Given the description of an element on the screen output the (x, y) to click on. 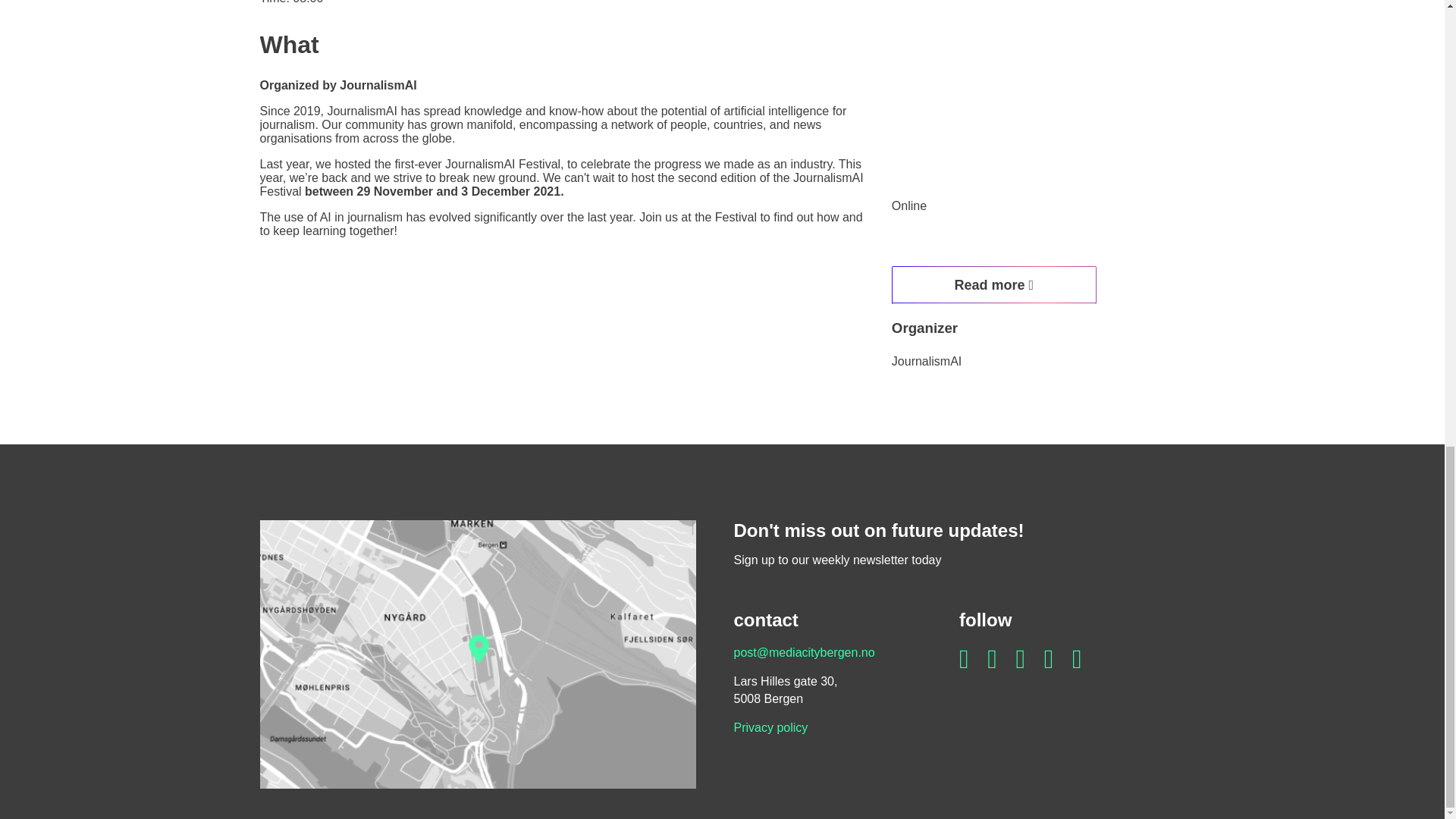
Privacy policy (770, 727)
Read more (993, 284)
JournalismAI (925, 360)
